Given the description of an element on the screen output the (x, y) to click on. 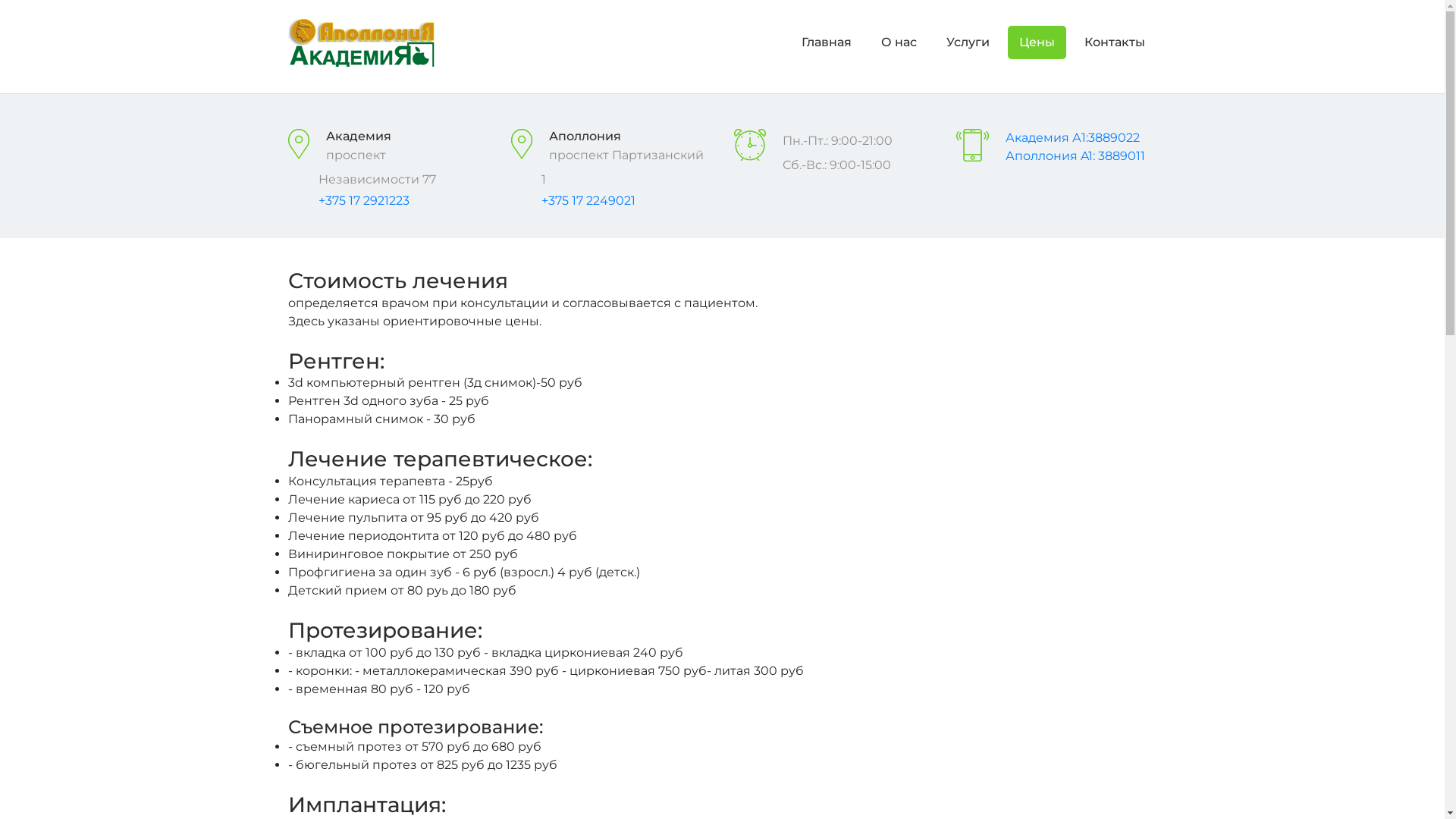
+375 17 2249021 Element type: text (588, 200)
+375 17 2921223 Element type: text (363, 200)
